Given the description of an element on the screen output the (x, y) to click on. 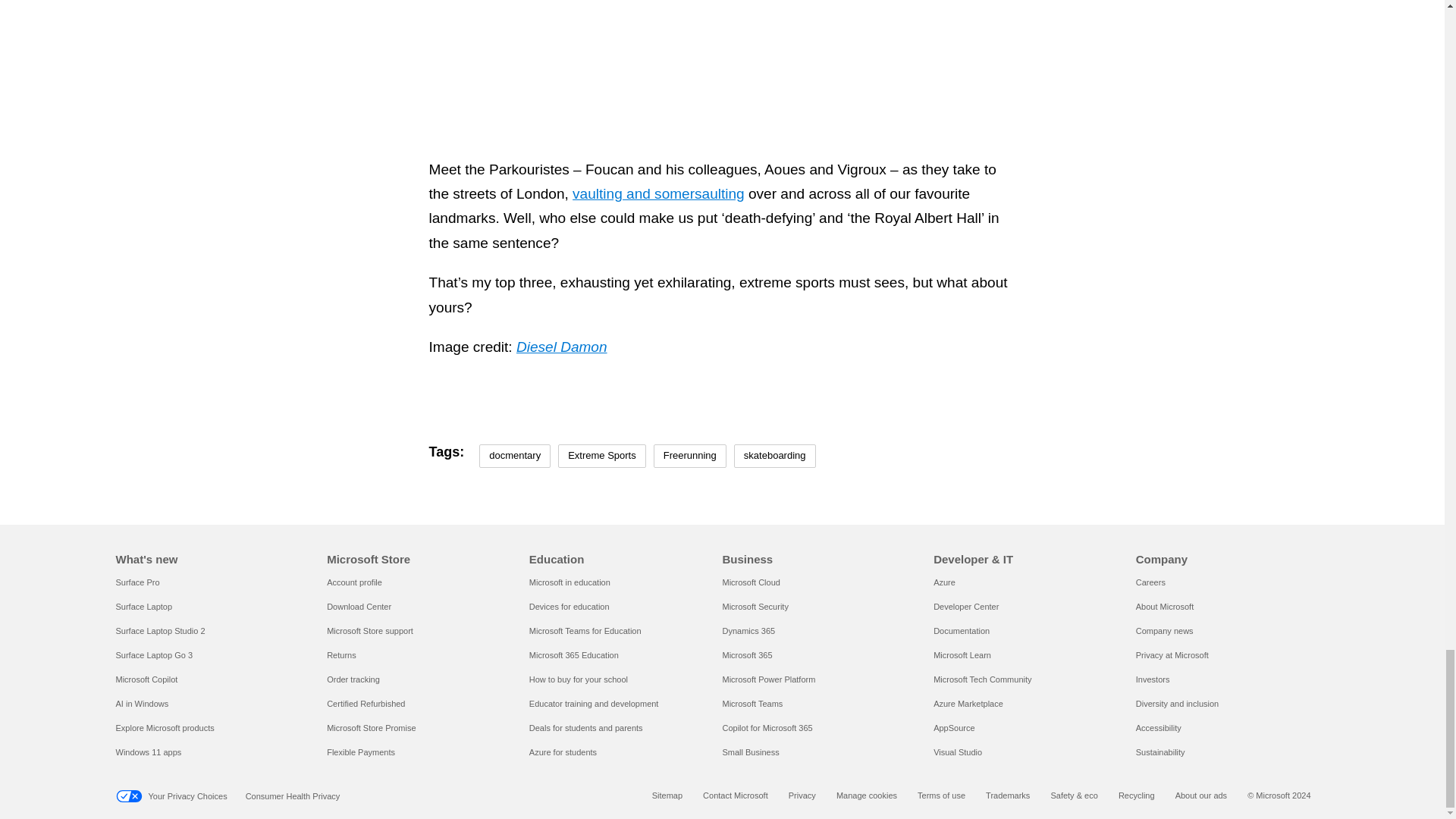
docmentary Tag (514, 455)
skateboarding Tag (774, 455)
jump-london (721, 36)
Extreme Sports Tag (601, 455)
Freerunning Tag (689, 455)
